Given the description of an element on the screen output the (x, y) to click on. 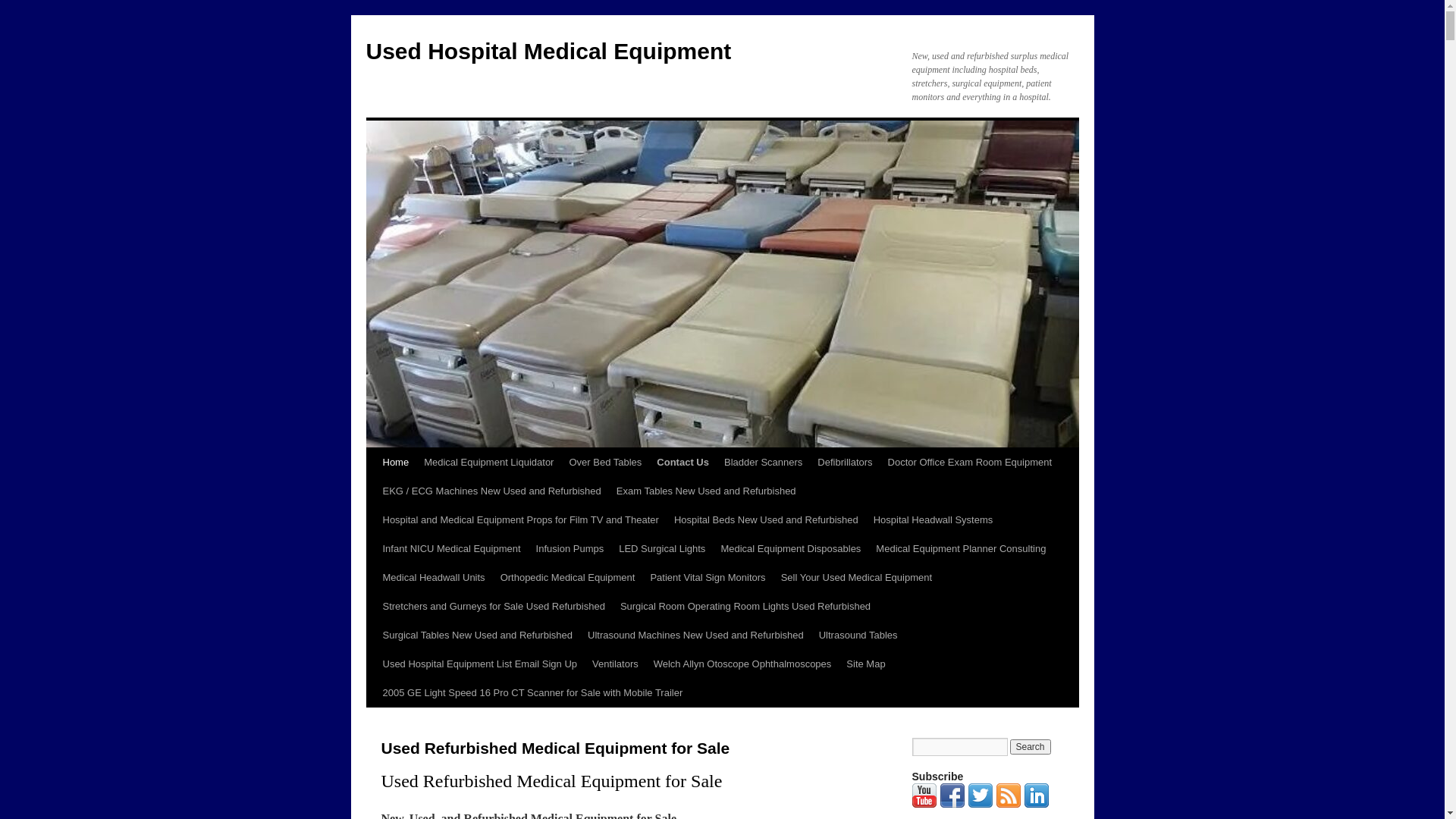
Hospital and Medical Equipment Props for Film TV and Theater Element type: text (519, 519)
LED Surgical Lights Element type: text (661, 548)
Used Hospital Medical Equipment Element type: text (548, 50)
Doctor Office Exam Room Equipment Element type: text (970, 462)
Sell Your Used Medical Equipment Element type: text (856, 577)
EKG / ECG Machines New Used and Refurbished Element type: text (491, 490)
Connect on Facebook Element type: hover (952, 804)
Surgical Tables New Used and Refurbished Element type: text (477, 635)
Used Hospital Equipment List Email Sign Up Element type: text (479, 663)
Subscribe to posts via RSS feed Element type: hover (1008, 804)
usedmedicalequipment - YouTube Element type: hover (923, 804)
Ultrasound Machines New Used and Refurbished Element type: text (695, 635)
Defibrillators Element type: text (844, 462)
Search Element type: text (1030, 746)
Patient Vital Sign Monitors Element type: text (707, 577)
Bladder Scanners Element type: text (762, 462)
Ultrasound Tables Element type: text (858, 635)
Stretchers and Gurneys for Sale Used Refurbished Element type: text (492, 606)
Medical Equipment Disposables Element type: text (790, 548)
Infant NICU Medical Equipment Element type: text (450, 548)
Ventilators Element type: text (615, 663)
Over Bed Tables Element type: text (605, 462)
Welch Allyn Otoscope Ophthalmoscopes Element type: text (742, 663)
Follow 1medicalsurplus on Twitter Element type: hover (979, 804)
Infusion Pumps Element type: text (569, 548)
Contact Us Element type: text (682, 462)
Home Element type: text (395, 462)
LinkedIn Element type: hover (1035, 804)
Hospital Headwall Systems Element type: text (933, 519)
Surgical Room Operating Room Lights Used Refurbished Element type: text (745, 606)
Exam Tables New Used and Refurbished Element type: text (705, 490)
Site Map Element type: text (865, 663)
Orthopedic Medical Equipment Element type: text (567, 577)
Medical Headwall Units Element type: text (433, 577)
Skip to content Element type: text (372, 490)
Medical Equipment Liquidator Element type: text (488, 462)
Hospital Beds New Used and Refurbished Element type: text (766, 519)
Medical Equipment Planner Consulting Element type: text (960, 548)
